Given the description of an element on the screen output the (x, y) to click on. 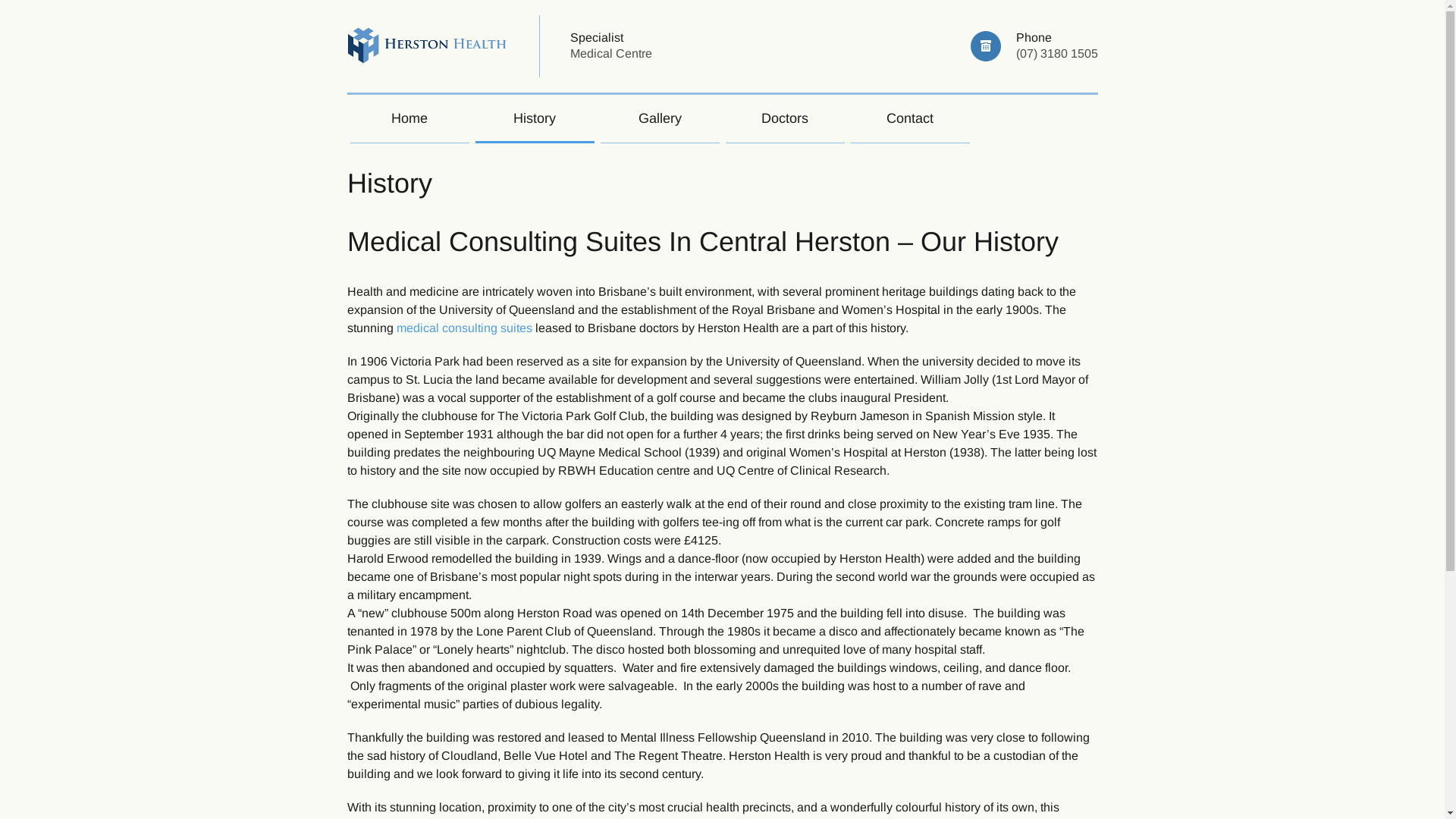
Herston Health Element type: hover (427, 46)
History Element type: text (533, 118)
medical consulting suites Element type: text (463, 327)
Doctors Element type: text (784, 118)
Contact Element type: text (909, 118)
Gallery Element type: text (659, 118)
Home Element type: text (409, 118)
